Given the description of an element on the screen output the (x, y) to click on. 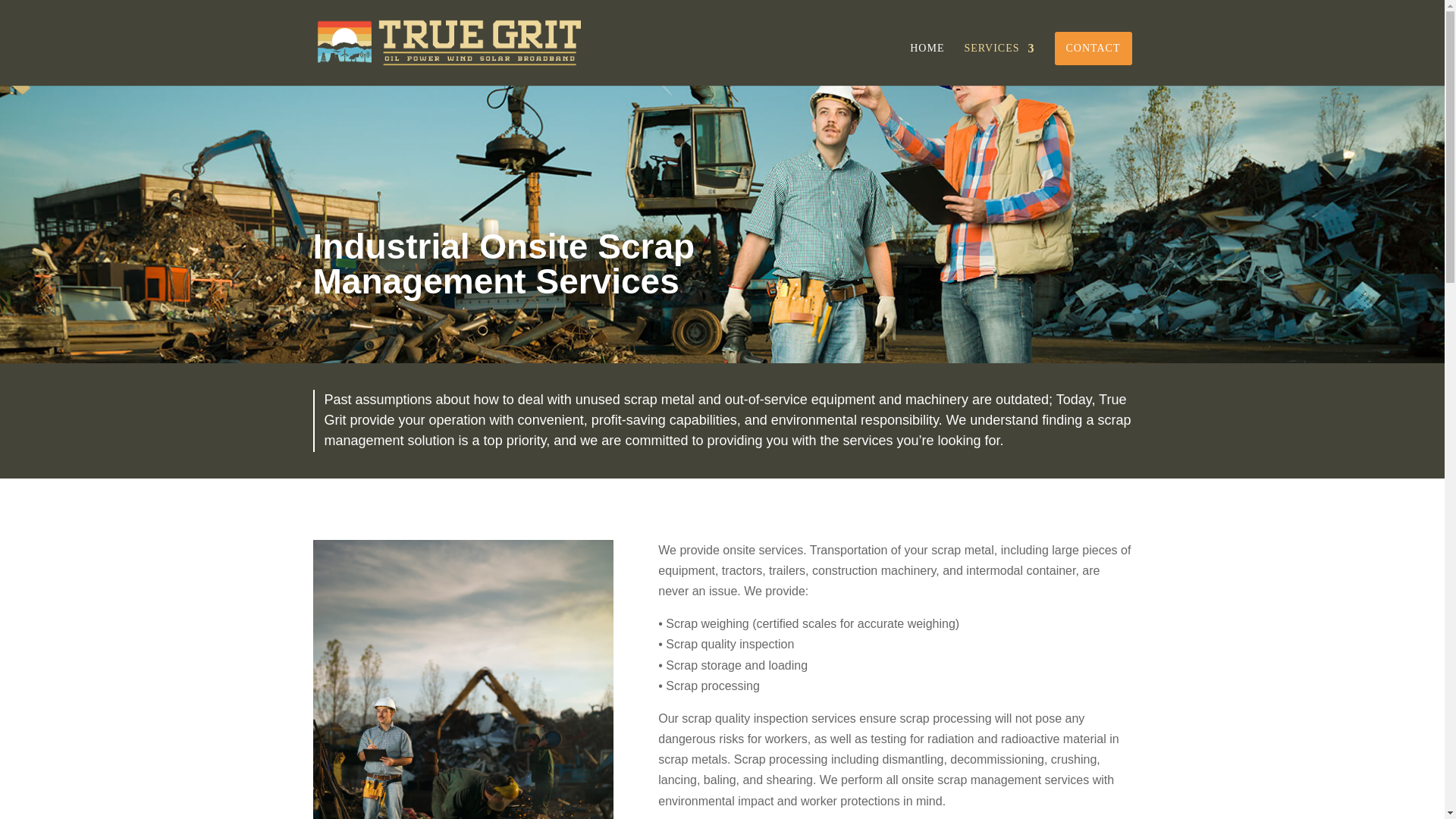
SERVICES (998, 64)
CONTACT (1092, 48)
